Given the description of an element on the screen output the (x, y) to click on. 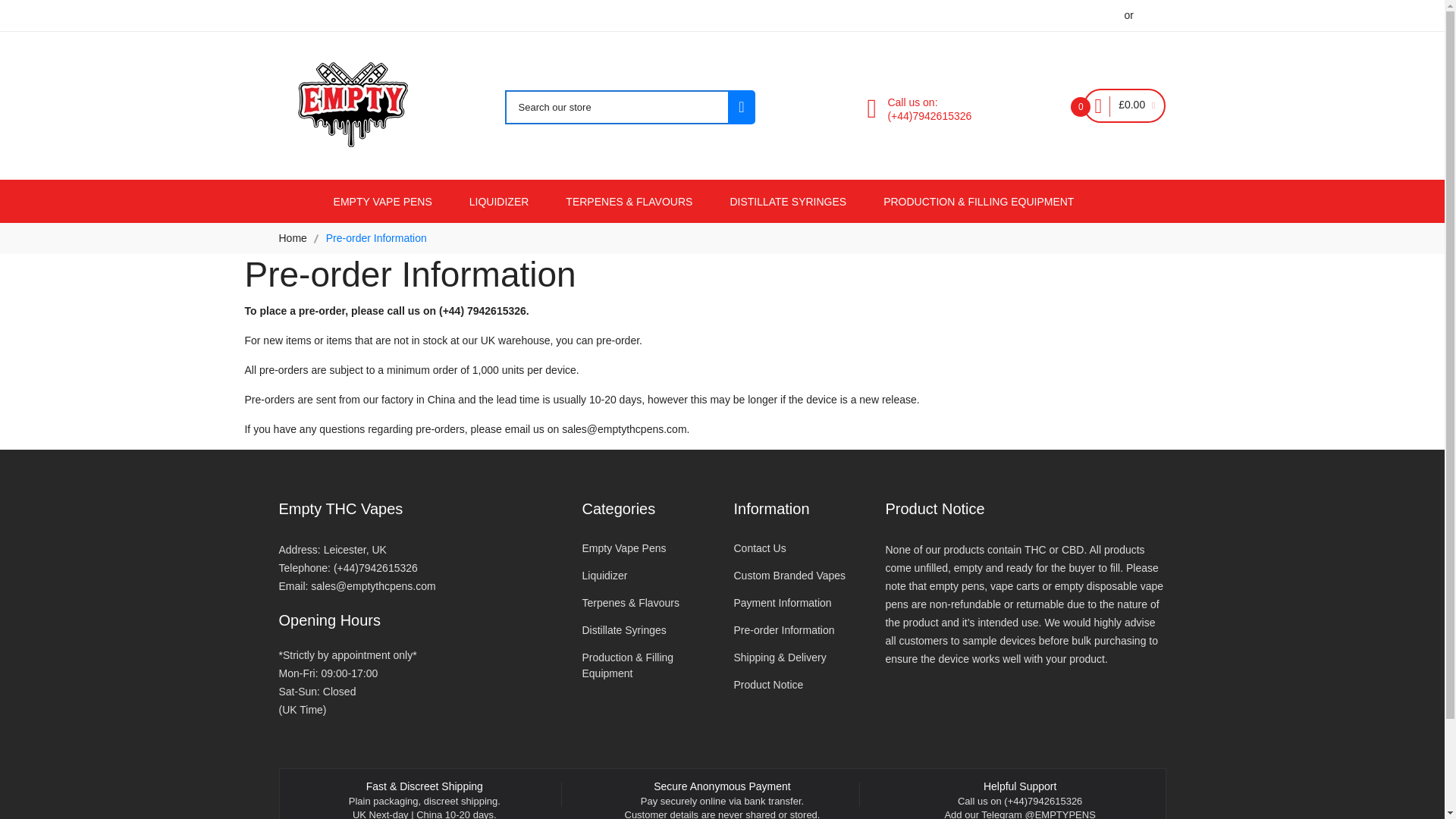
Liquidizer (694, 15)
Pre-order Information (797, 630)
Product Notice (797, 684)
Contact Us (797, 548)
Home (293, 237)
Sign in (1152, 15)
Distillate Syringes (645, 630)
LIQUIDIZER (498, 201)
Liquidizer (645, 575)
Distillate Syringes (879, 15)
